Given the description of an element on the screen output the (x, y) to click on. 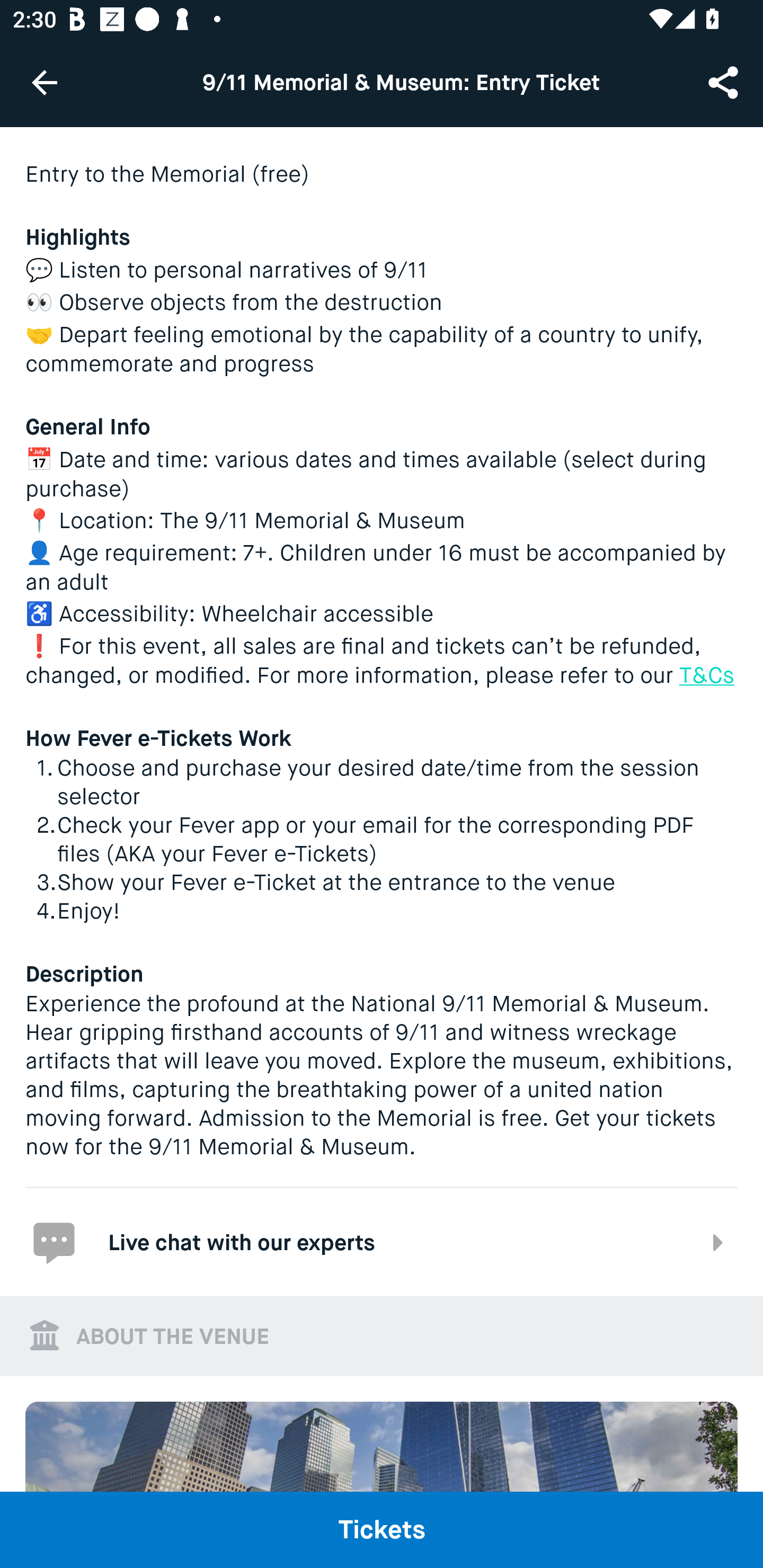
Navigate up (44, 82)
Share (724, 81)
Live chat with our experts (381, 1241)
Tickets (381, 1529)
